Given the description of an element on the screen output the (x, y) to click on. 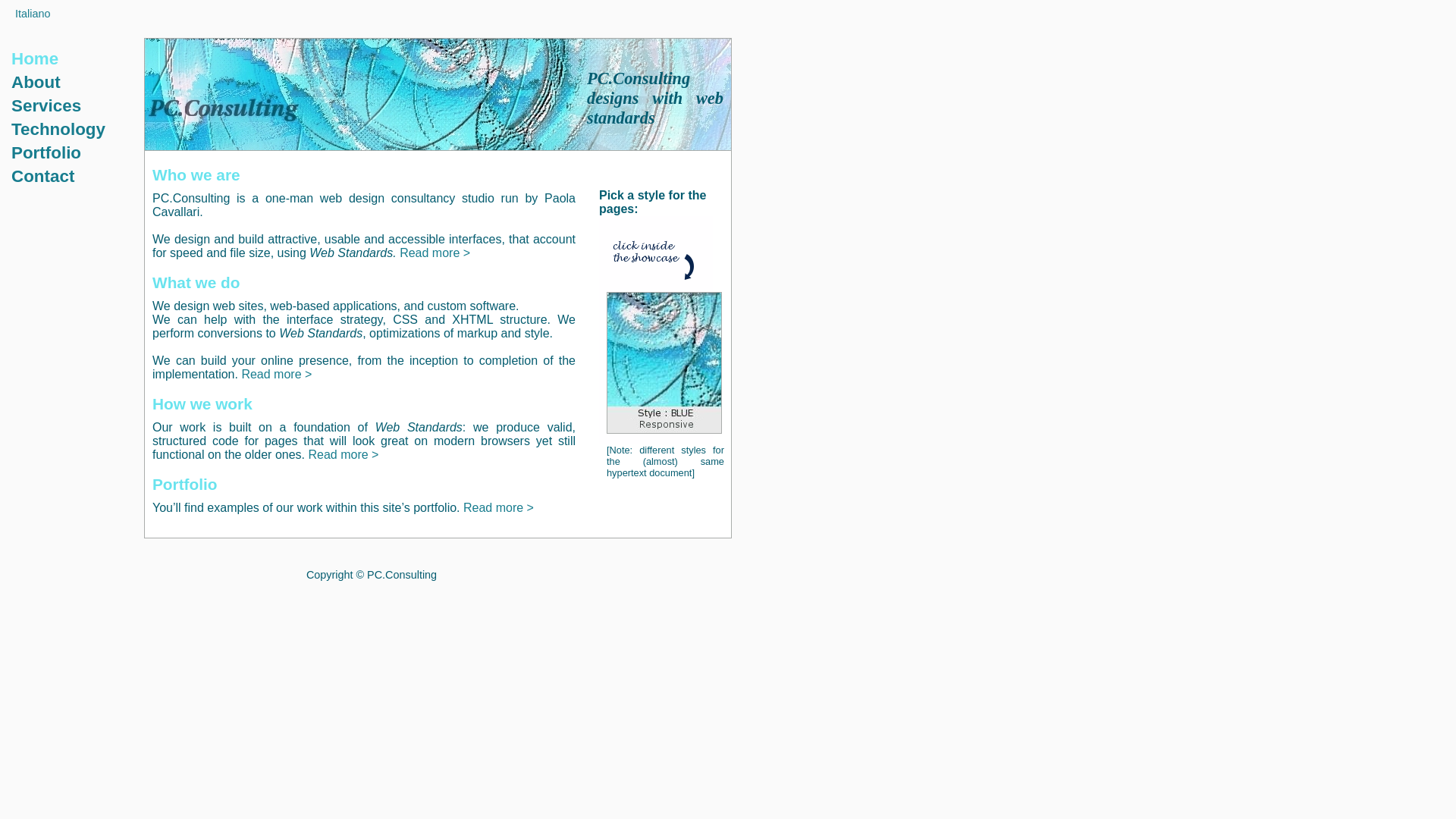
Contact (42, 176)
Portfolio (46, 152)
Home (34, 58)
About (36, 81)
Services (46, 105)
Italiano (31, 13)
Technology (57, 128)
